Given the description of an element on the screen output the (x, y) to click on. 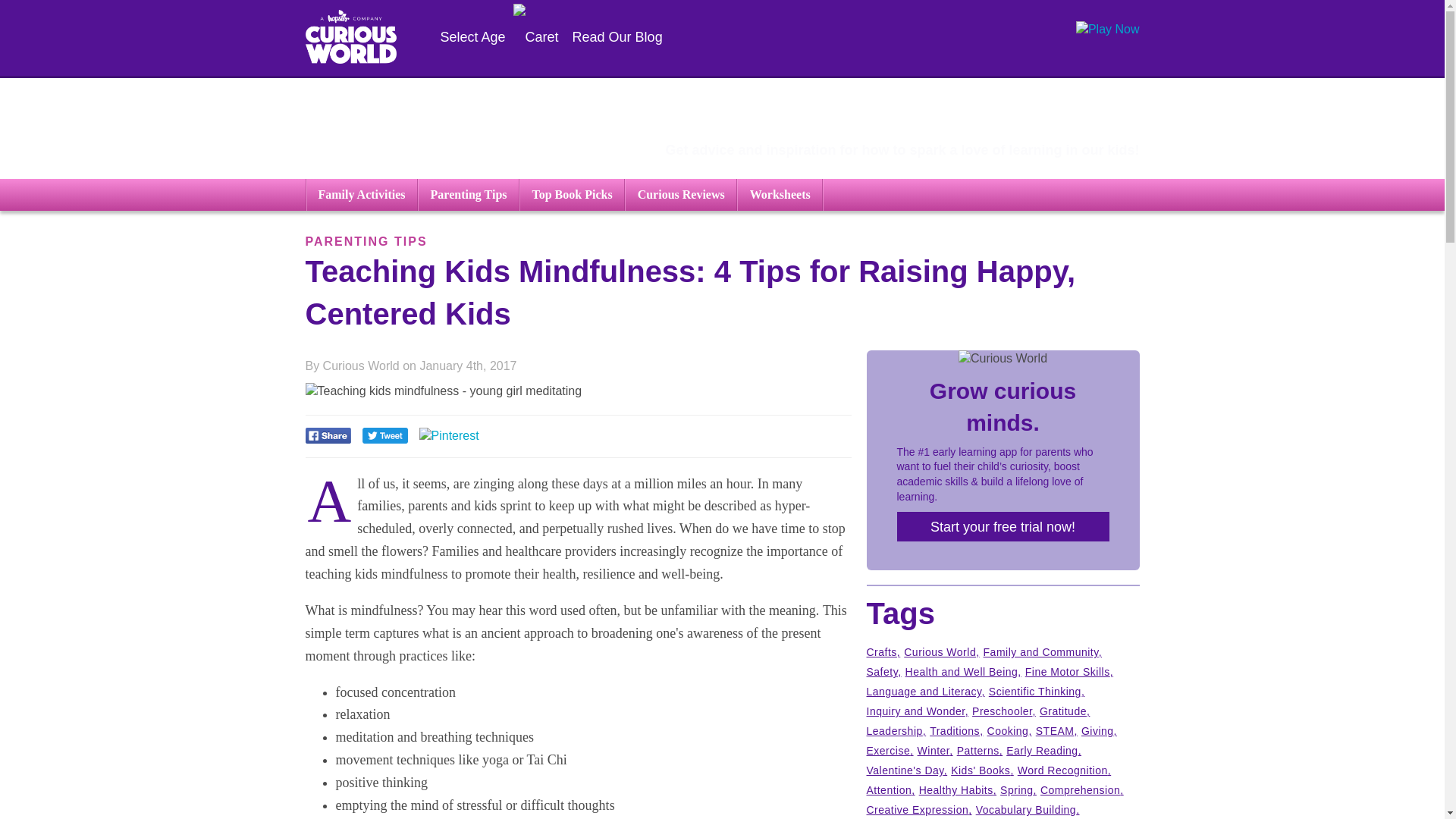
CURIOUS WORLD BLOG (847, 113)
Read Our Blog (617, 37)
Twitter (384, 439)
Parenting Tips (469, 194)
Select Age (498, 37)
Pinterest (449, 435)
Home (350, 38)
Top Book Picks (572, 194)
Start your free trial now! (1002, 526)
